Given the description of an element on the screen output the (x, y) to click on. 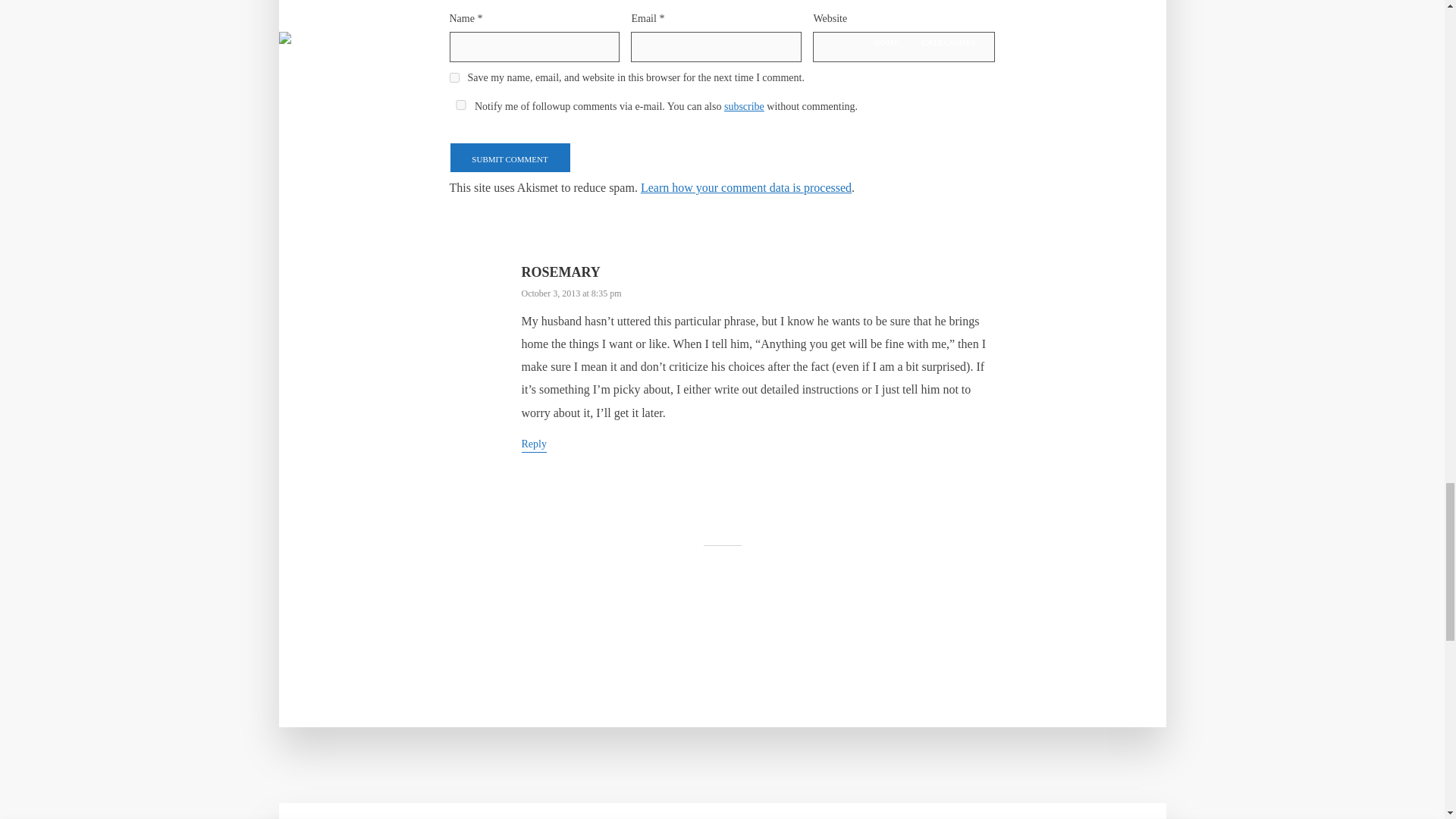
ROSEMARY (560, 272)
yes (459, 104)
yes (453, 77)
Learn how your comment data is processed (745, 187)
Reply (534, 445)
Submit Comment (509, 157)
Submit Comment (509, 157)
October 3, 2013 at 8:35 pm (571, 293)
subscribe (743, 106)
